Given the description of an element on the screen output the (x, y) to click on. 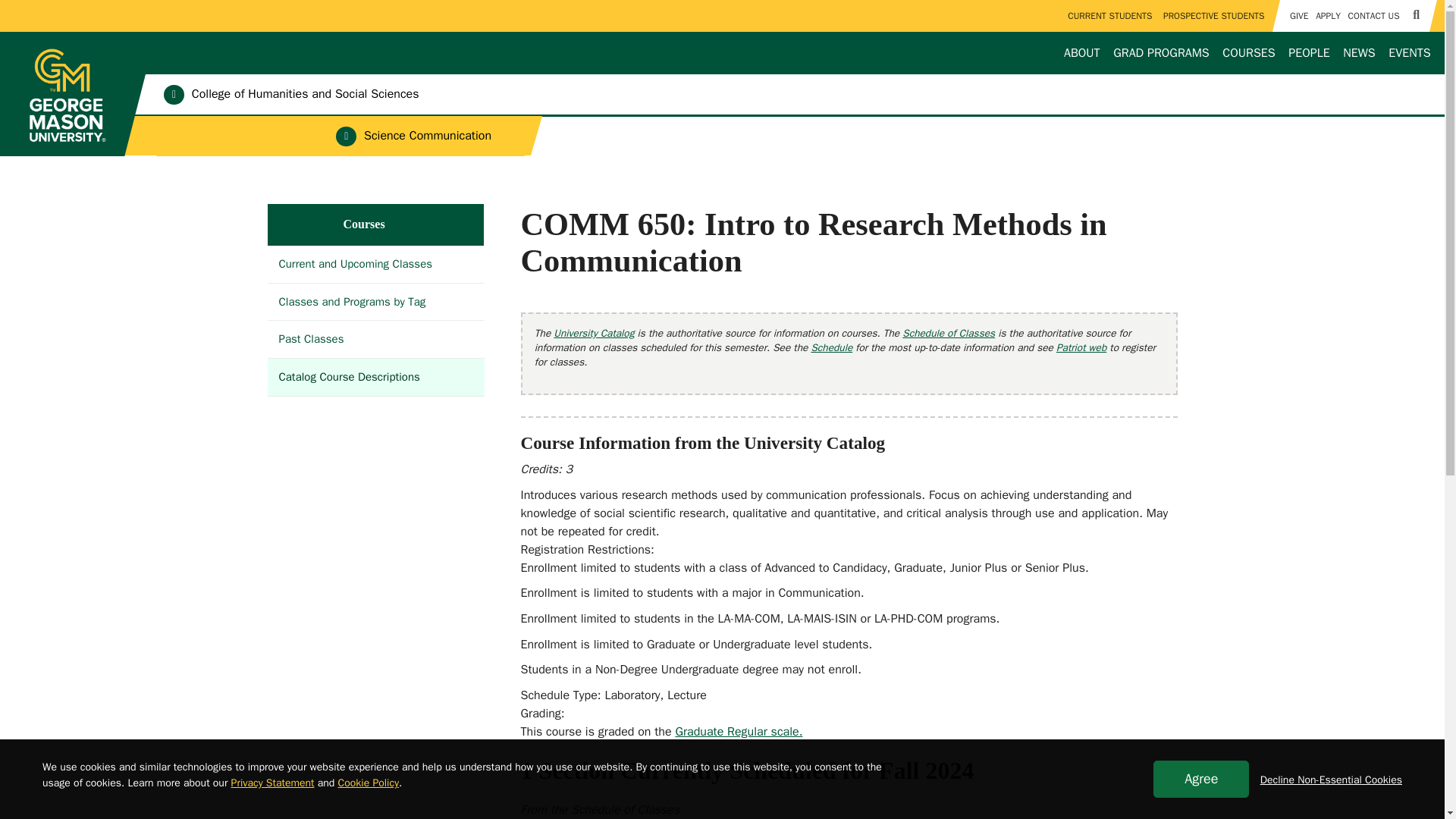
Events (1409, 52)
People (1309, 52)
George Mason University Cookie Policy (367, 782)
APPLY (1327, 15)
George Mason University Privacy Statement (272, 782)
Current Students (1110, 15)
Enter search terms (722, 14)
Privacy Statement (272, 782)
About (1082, 52)
ABOUT (1082, 52)
